Given the description of an element on the screen output the (x, y) to click on. 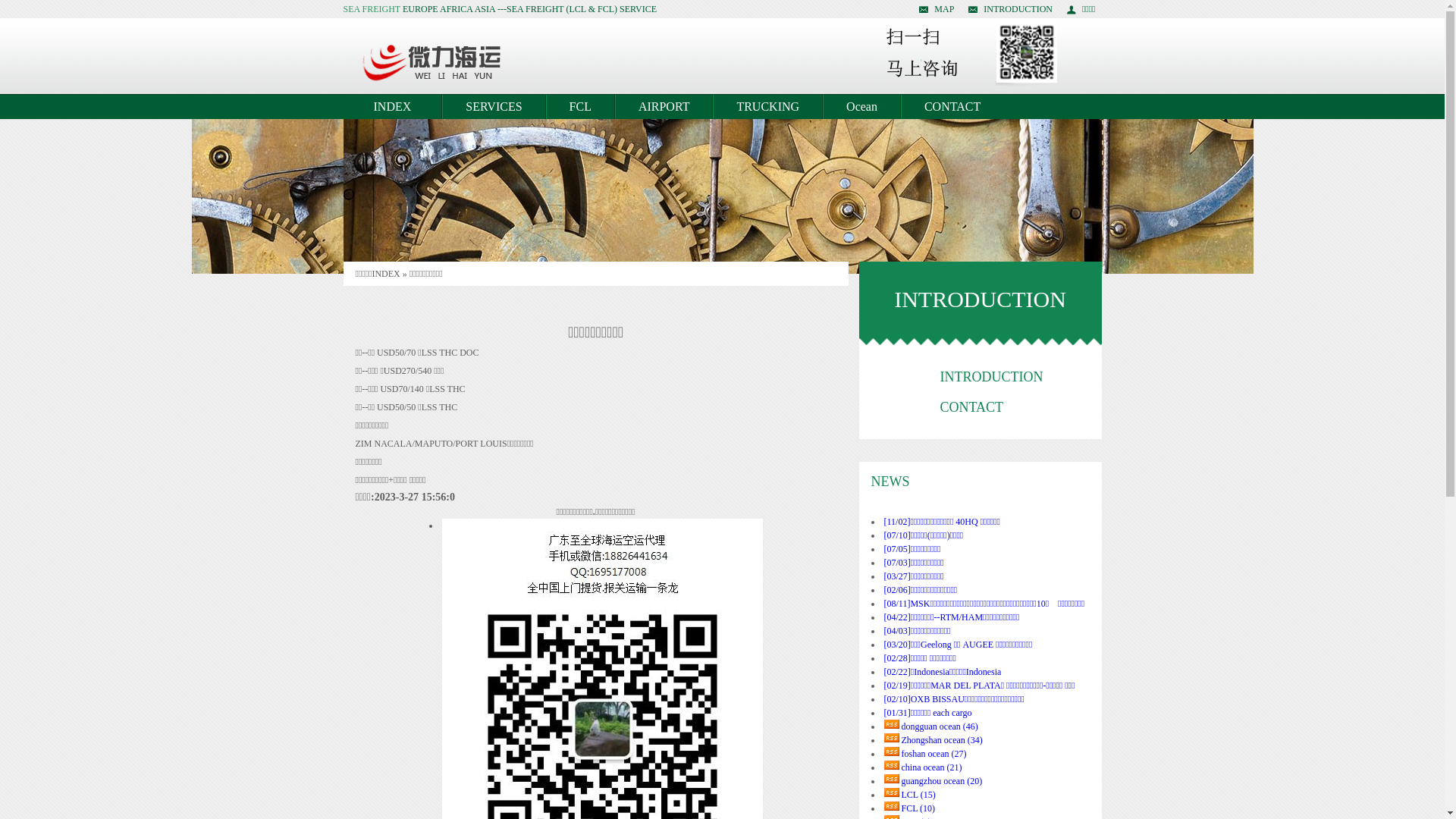
china ocean (21) Element type: text (930, 767)
INDEX Element type: text (385, 273)
MAP Element type: text (936, 8)
FCL Element type: text (580, 106)
Ocean Element type: text (861, 106)
rss Element type: hover (891, 723)
AIRPORT Element type: text (664, 106)
rss Element type: hover (891, 805)
rss Element type: hover (891, 778)
guangzhou ocean (20) Element type: text (941, 780)
LCL (15) Element type: text (917, 794)
foshan ocean (27) Element type: text (933, 753)
CONTACT Element type: text (972, 406)
INDEX Element type: text (392, 106)
INTRODUCTION Element type: text (991, 376)
dongguan ocean (46) Element type: text (938, 726)
INTRODUCTION Element type: text (1010, 8)
FCL (10) Element type: text (917, 808)
Zhongshan ocean (34) Element type: text (941, 739)
rss Element type: hover (891, 764)
rss Element type: hover (891, 792)
rss Element type: hover (891, 751)
TRUCKING Element type: text (767, 106)
SERVICES Element type: text (493, 106)
SEA FREIGHT Element type: text (370, 8)
CONTACT Element type: text (951, 106)
rss Element type: hover (891, 737)
